Given the description of an element on the screen output the (x, y) to click on. 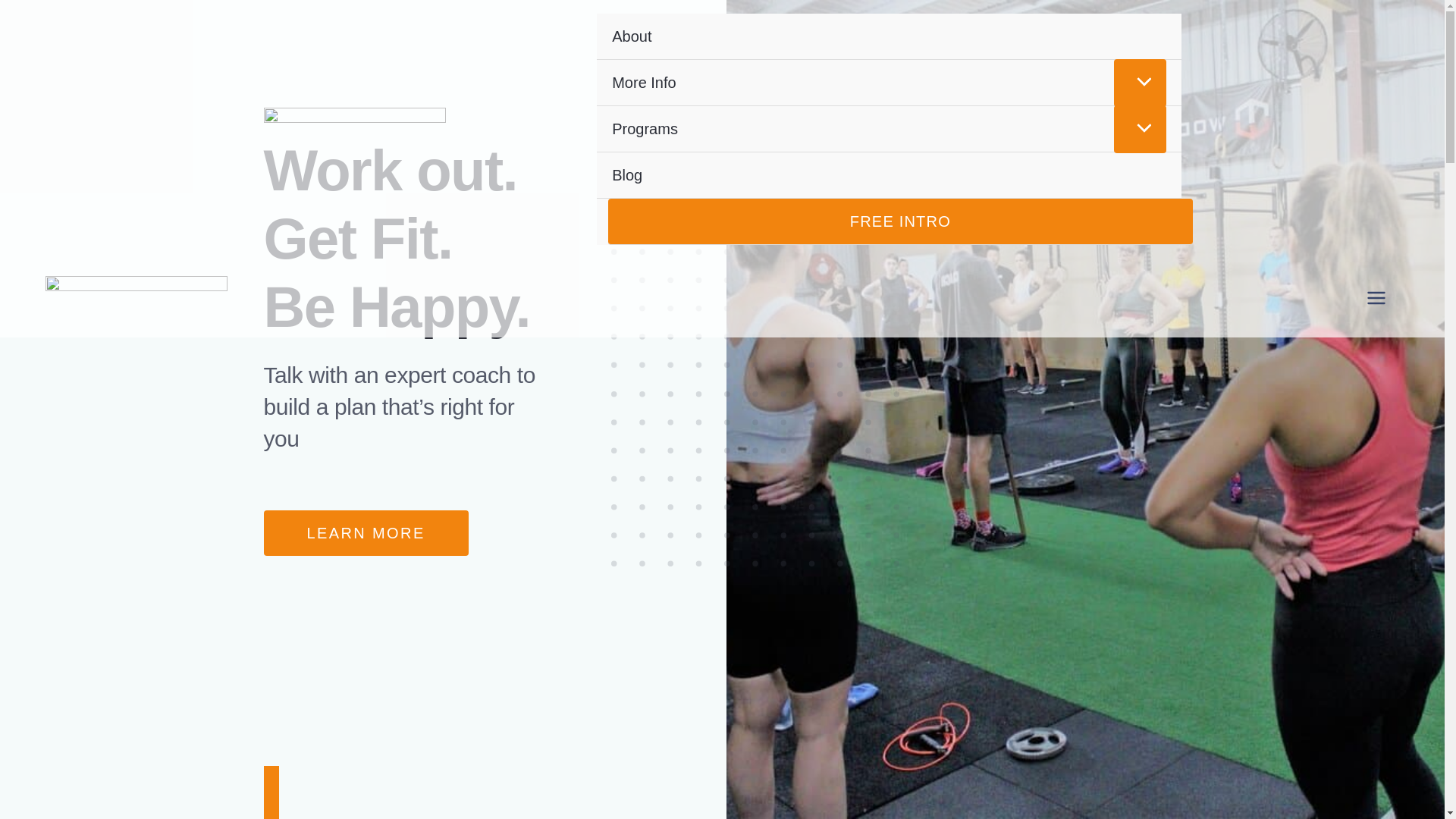
FREE INTRO (900, 221)
Blog (888, 175)
MENU TOGGLE (1139, 82)
MENU TOGGLE (1139, 129)
MAIN MENU (1376, 298)
LEARN MORE (365, 533)
About (888, 36)
Programs (888, 129)
More Info (888, 82)
